Given the description of an element on the screen output the (x, y) to click on. 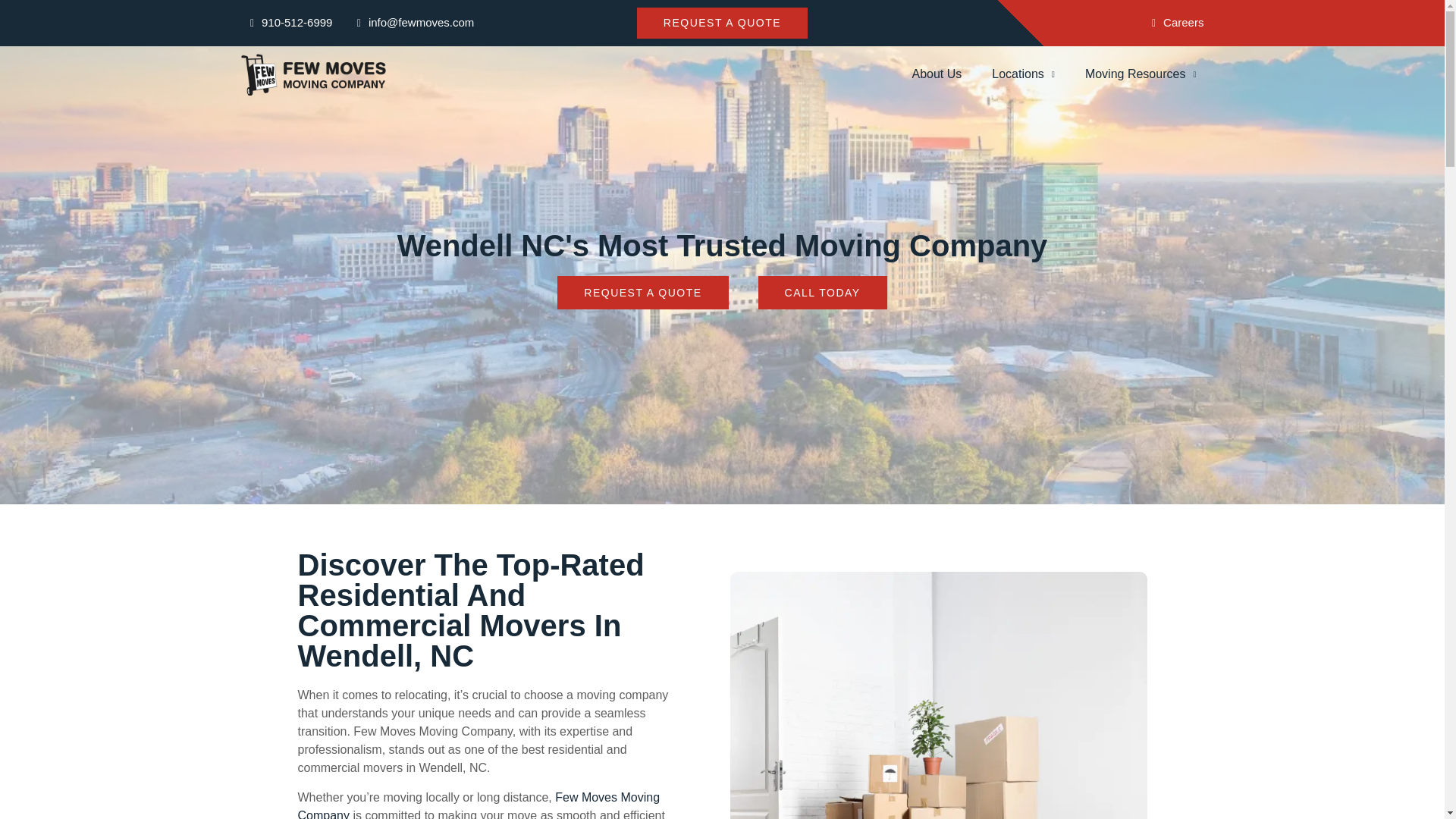
About Us (936, 73)
Locations (1023, 73)
REQUEST A QUOTE (722, 22)
910-512-6999 (287, 22)
Careers (1173, 22)
